Given the description of an element on the screen output the (x, y) to click on. 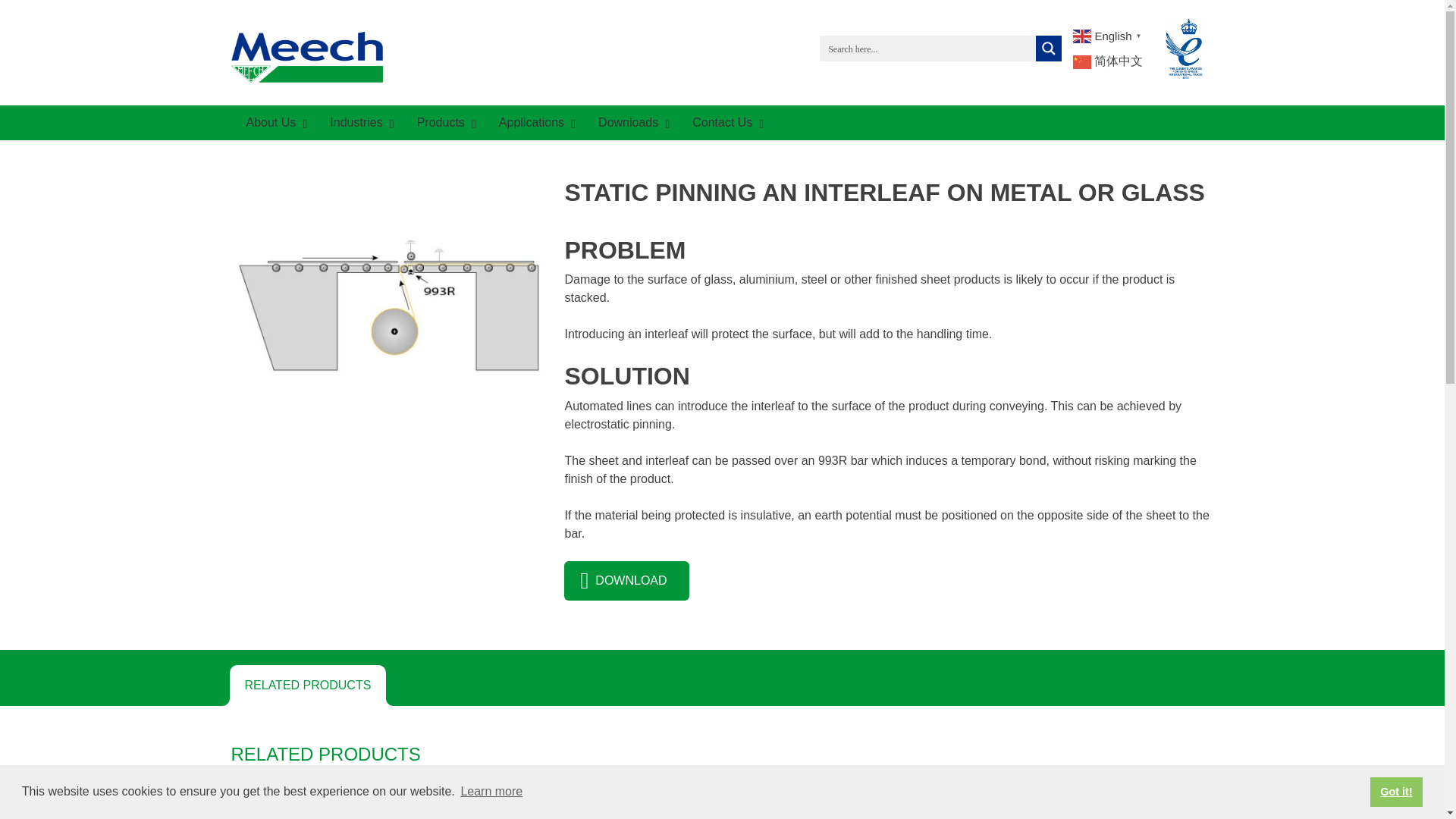
Products (442, 122)
About Us (272, 122)
Got it! (1396, 791)
Learn more (491, 791)
Industries (357, 122)
